Given the description of an element on the screen output the (x, y) to click on. 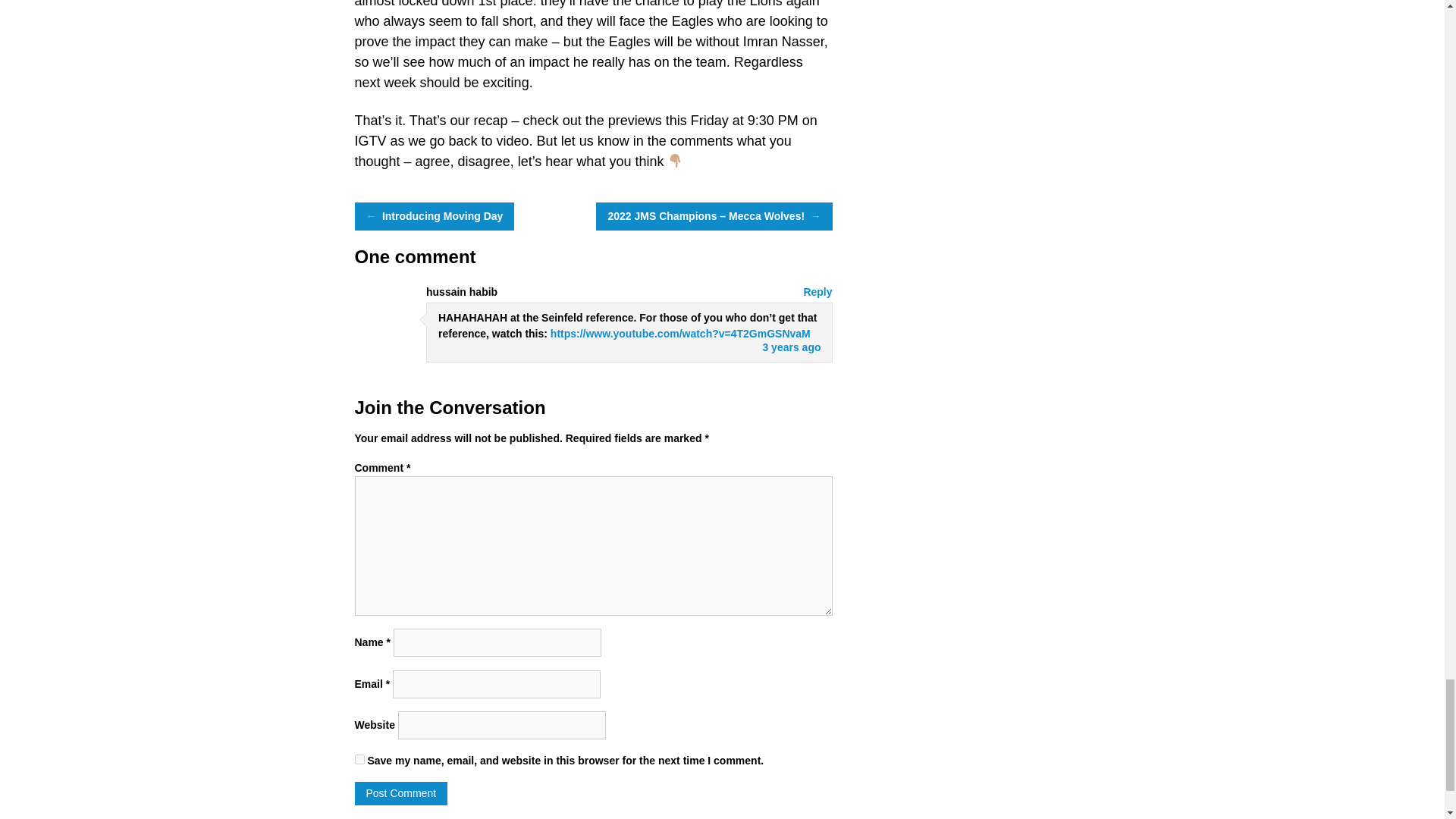
yes (360, 759)
Post Comment (401, 793)
July 27, 2021 at 8:19 pm (791, 346)
